Given the description of an element on the screen output the (x, y) to click on. 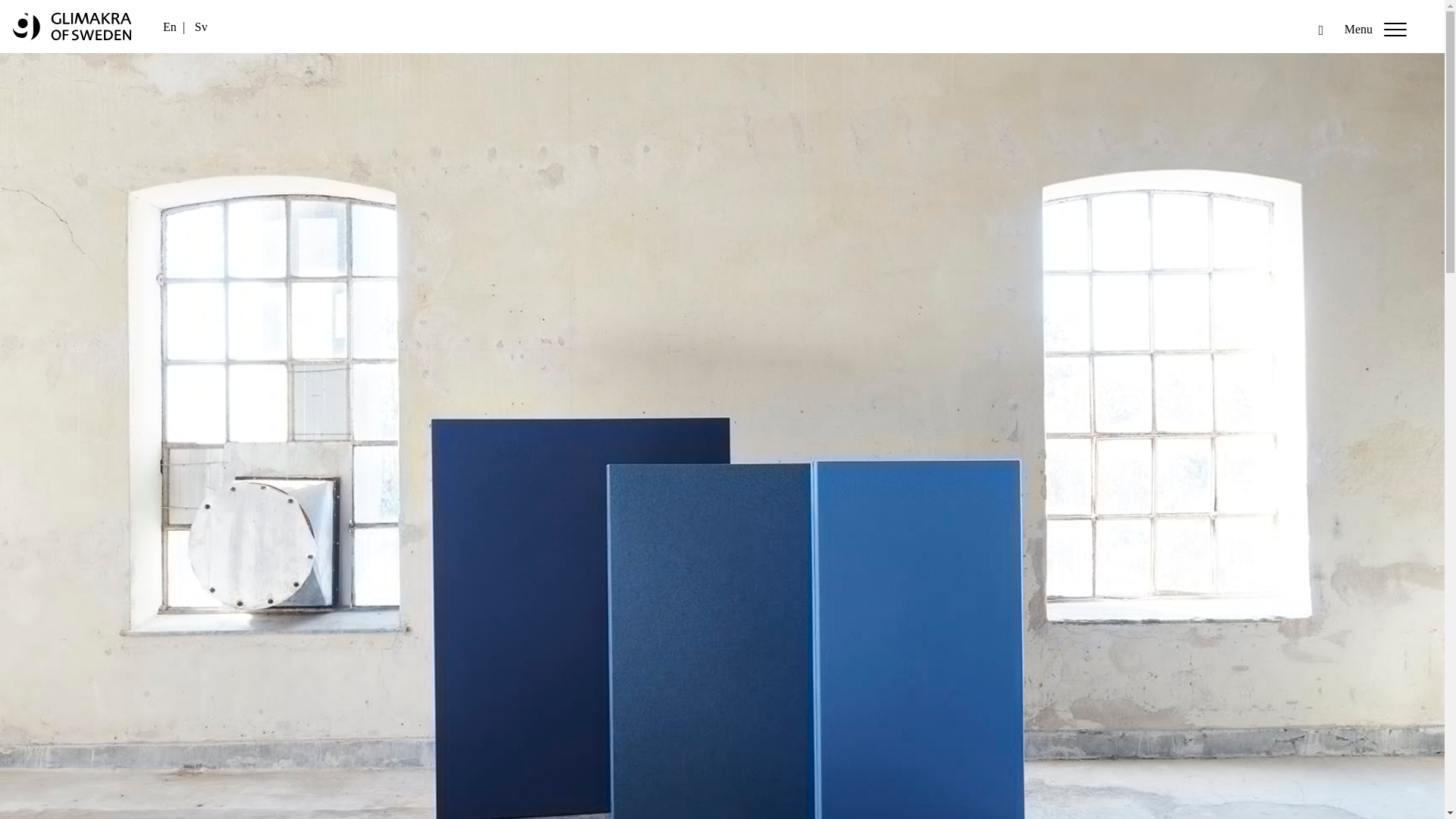
Menu (1379, 32)
Sv (201, 26)
En (169, 26)
Search (22, 11)
